Given the description of an element on the screen output the (x, y) to click on. 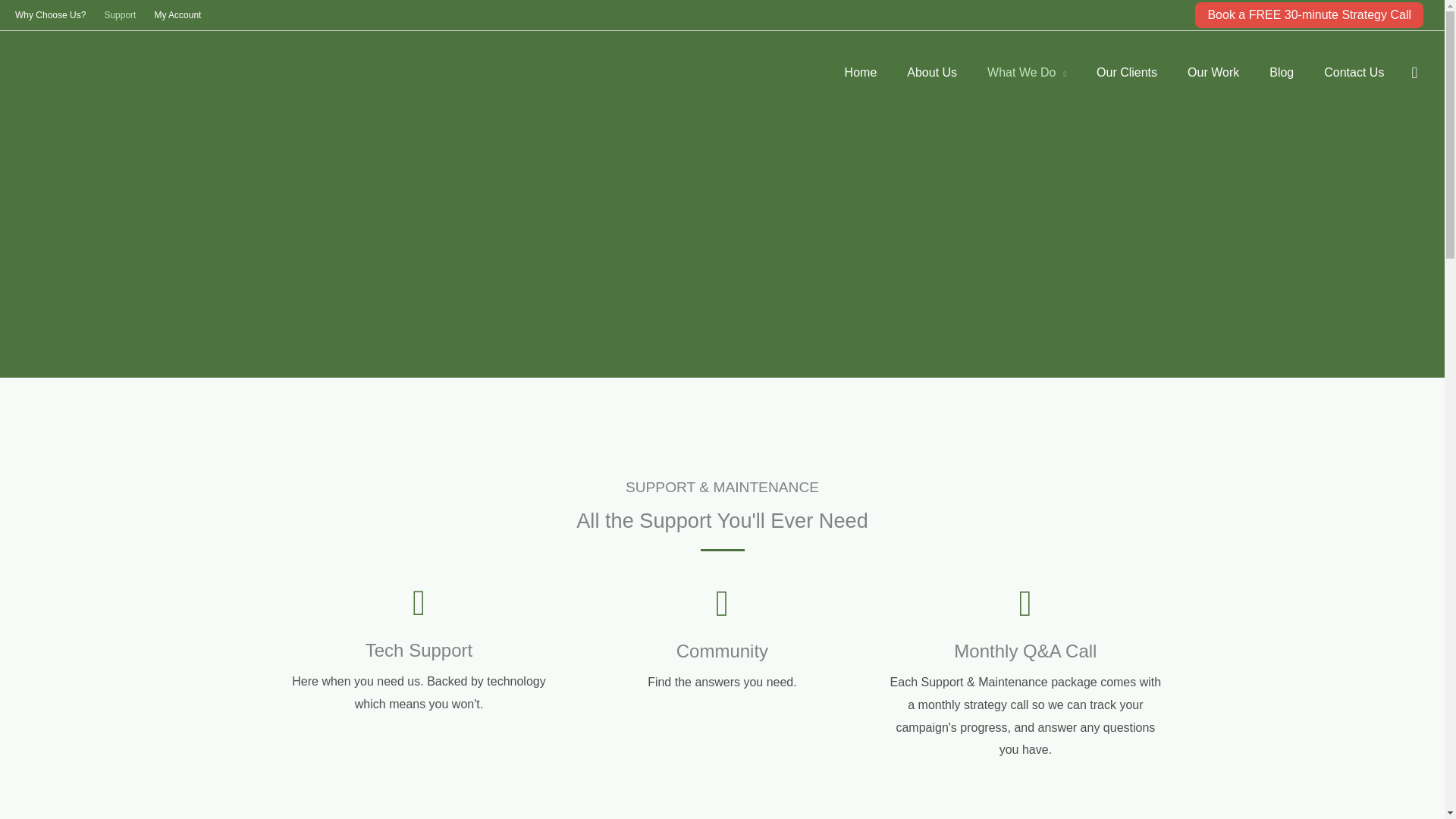
About Us (931, 72)
Our Clients (1126, 72)
Our Work (1212, 72)
Contact Us (1353, 72)
What We Do (1026, 72)
Support (119, 15)
My Account (176, 15)
Blog (1280, 72)
Why Choose Us? (54, 15)
Home (860, 72)
Book a FREE 30-minute Strategy Call (1309, 14)
